Given the description of an element on the screen output the (x, y) to click on. 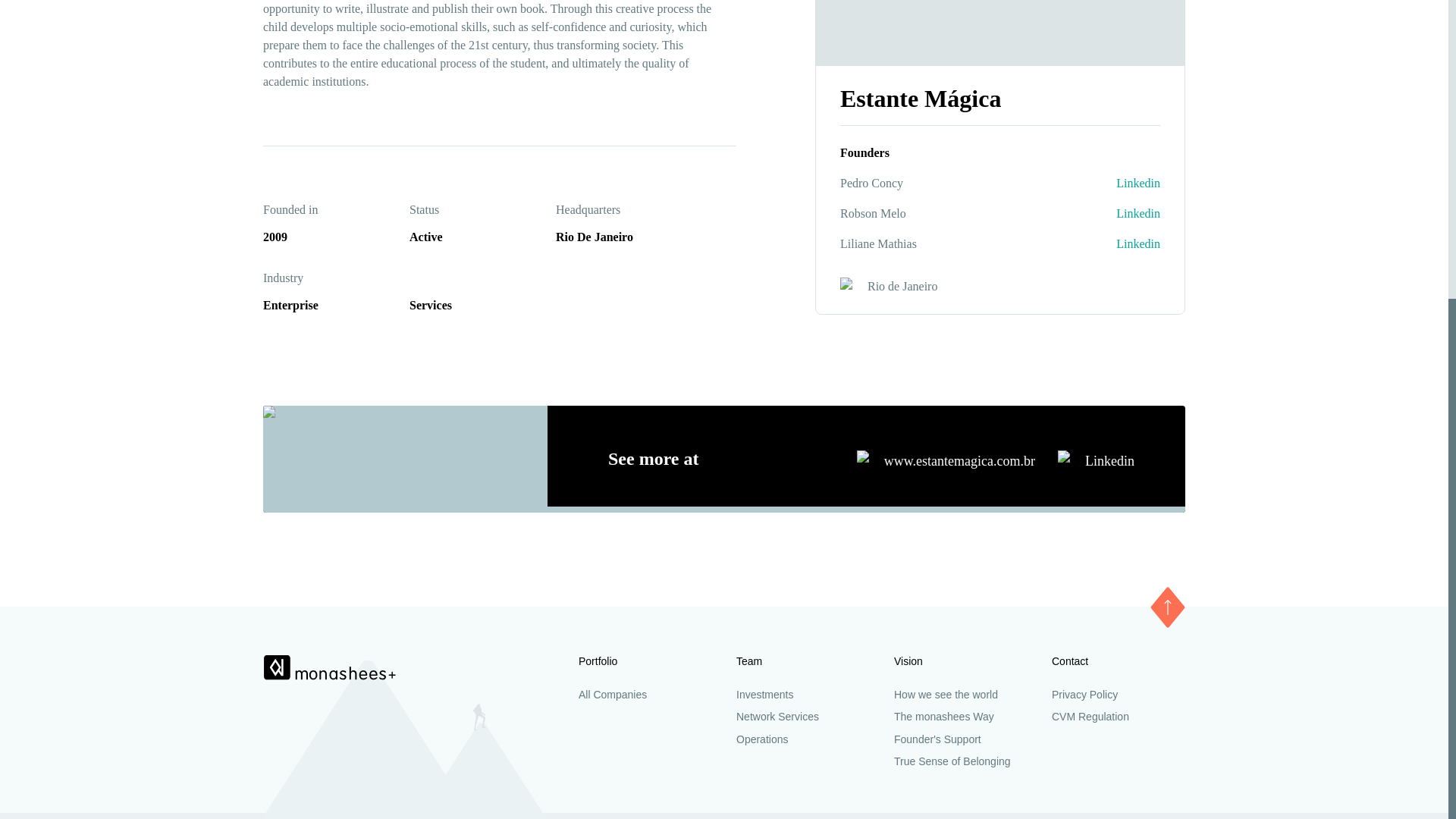
CVM Regulation (1118, 246)
Network Services (802, 246)
How we see the world (960, 224)
Linkedin (1138, 167)
Investments (802, 224)
Founder's Support (960, 268)
True Sense of Belonging (960, 290)
Portfolio (644, 191)
The monashees Way (960, 246)
Linkedin (1138, 136)
Vision (960, 191)
Linkedin (1096, 459)
All Companies (644, 224)
Operations (802, 268)
Contact (1118, 191)
